Given the description of an element on the screen output the (x, y) to click on. 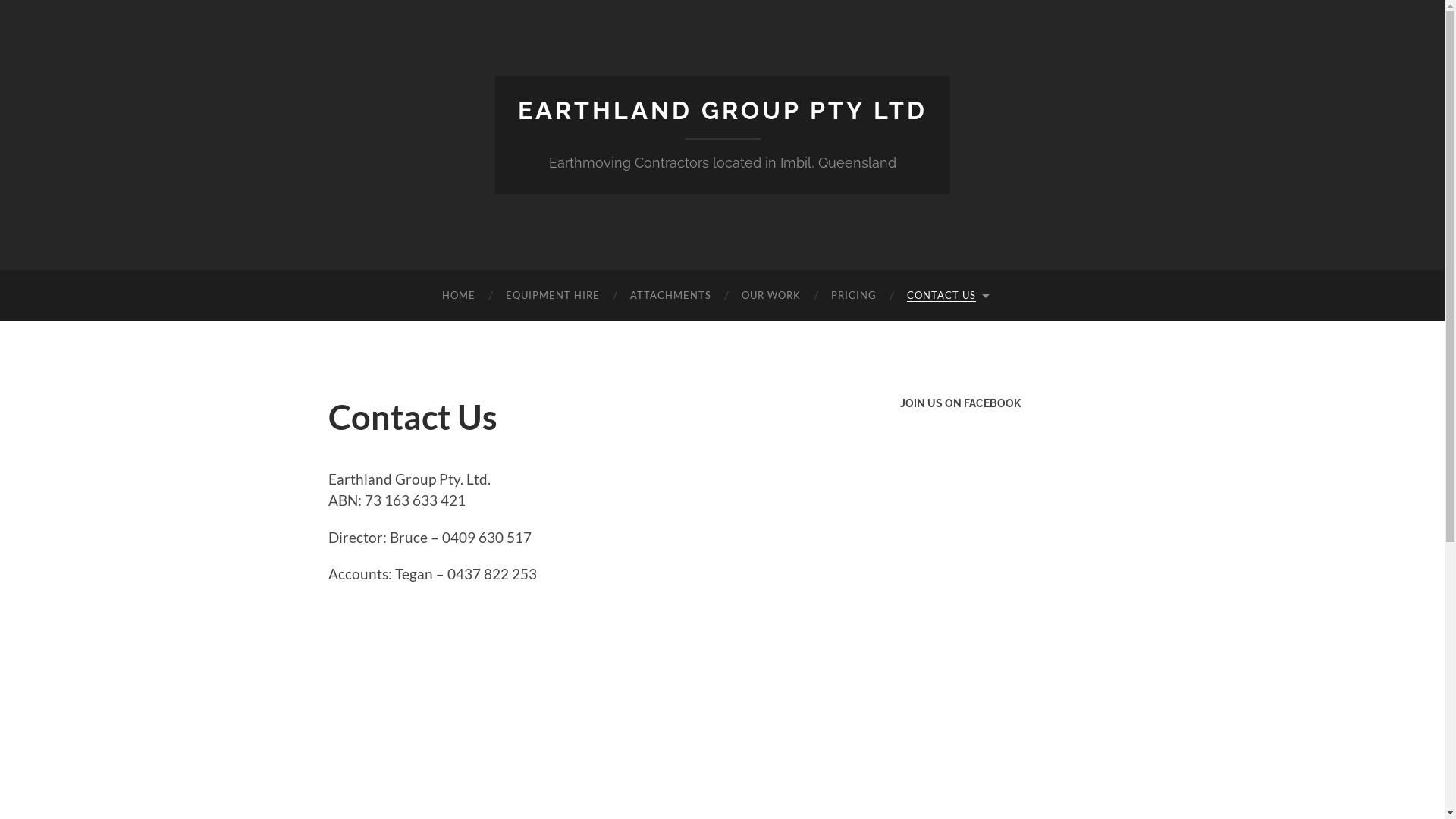
EARTHLAND GROUP PTY LTD Element type: text (721, 110)
PRICING Element type: text (853, 294)
ATTACHMENTS Element type: text (670, 294)
EQUIPMENT HIRE Element type: text (552, 294)
OUR WORK Element type: text (770, 294)
HOME Element type: text (458, 294)
CONTACT US Element type: text (946, 294)
